Given the description of an element on the screen output the (x, y) to click on. 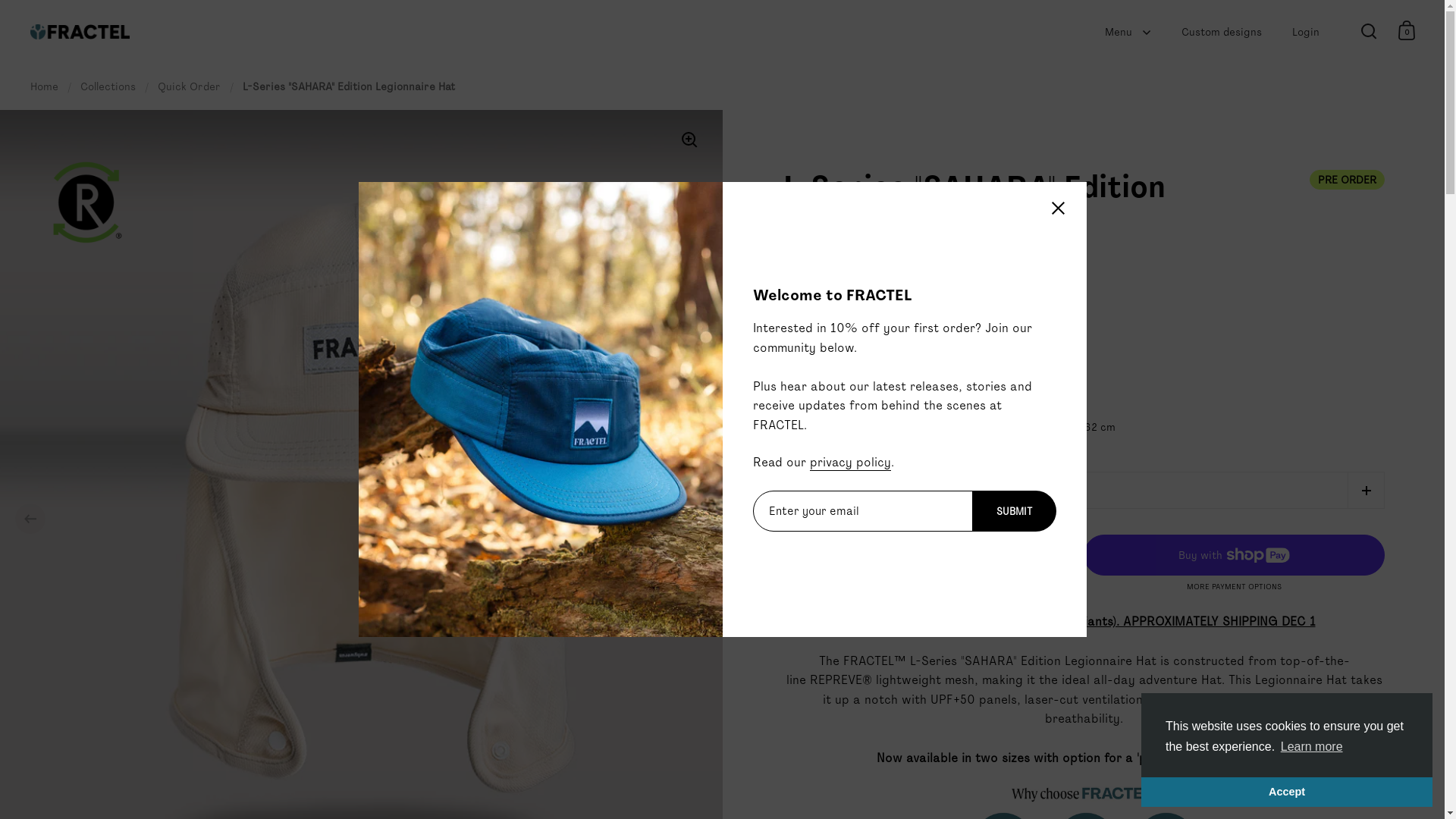
0 Element type: text (1406, 30)
Custom designs Element type: text (1221, 31)
Open search< Element type: hover (1368, 30)
MORE PAYMENT OPTIONS Element type: text (1233, 586)
Collections Element type: text (107, 86)
SUBMIT Element type: text (1014, 510)
privacy policy Element type: text (850, 462)
Login Element type: text (1305, 31)
Quick Order Element type: text (188, 86)
Home Element type: text (44, 86)
ADD TO CART Element type: text (925, 553)
Skip to content Element type: text (0, 0)
Close sidebar Element type: text (1057, 210)
Accept Element type: text (1286, 791)
Menu Element type: text (1127, 31)
Learn more Element type: text (1311, 746)
